Given the description of an element on the screen output the (x, y) to click on. 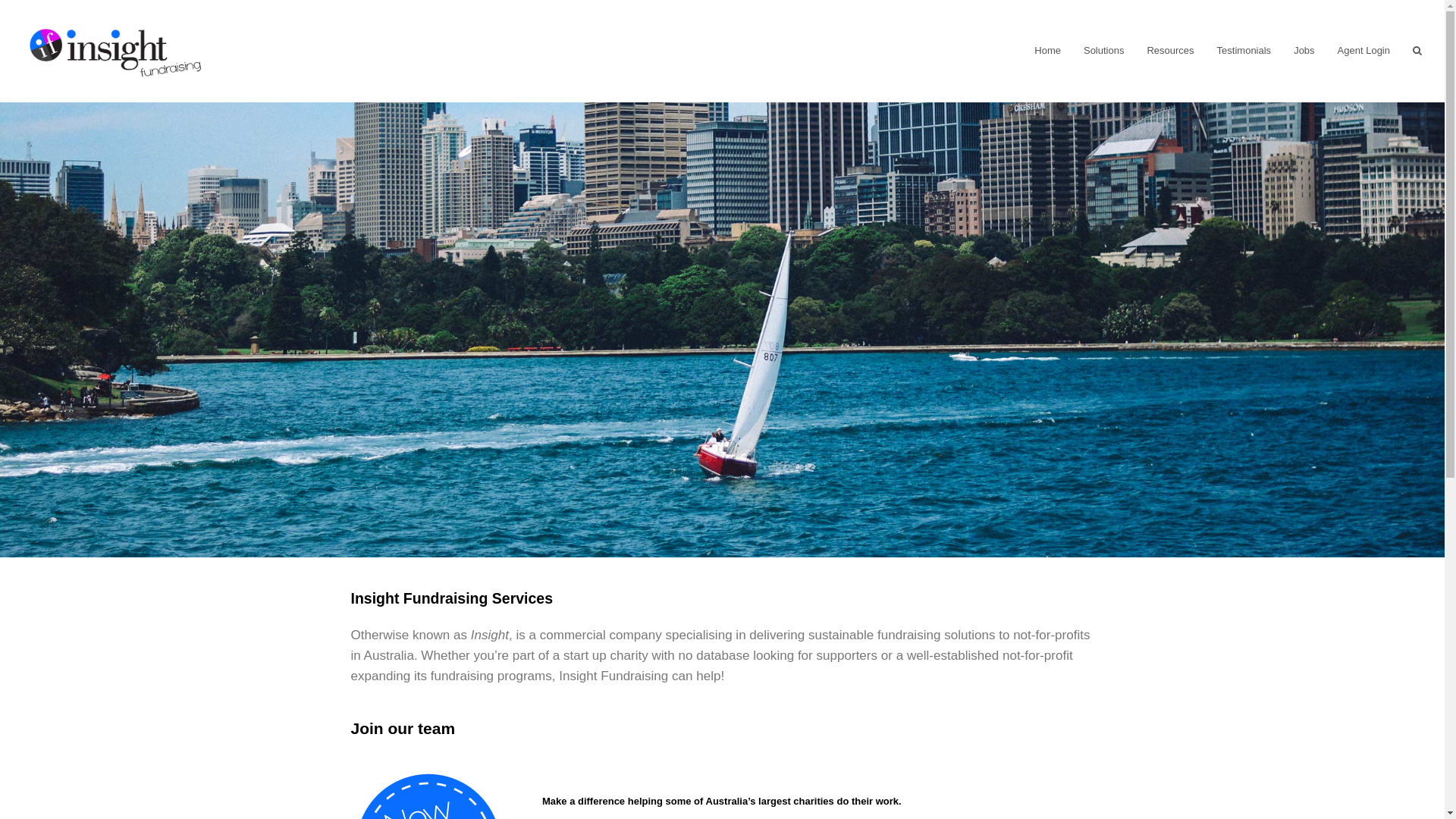
Home Element type: text (1047, 50)
Resources Element type: text (1169, 50)
Agent Login Element type: text (1363, 50)
Jobs Element type: text (1303, 50)
Solutions Element type: text (1103, 50)
Testimonials Element type: text (1244, 50)
Insight Fundraising Element type: hover (114, 50)
